Given the description of an element on the screen output the (x, y) to click on. 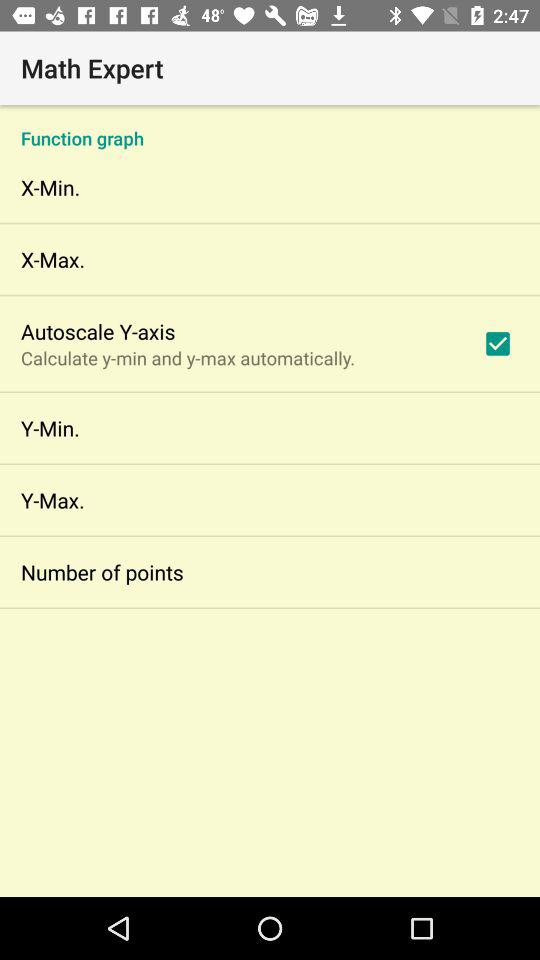
turn off the item below x-max. icon (98, 331)
